Given the description of an element on the screen output the (x, y) to click on. 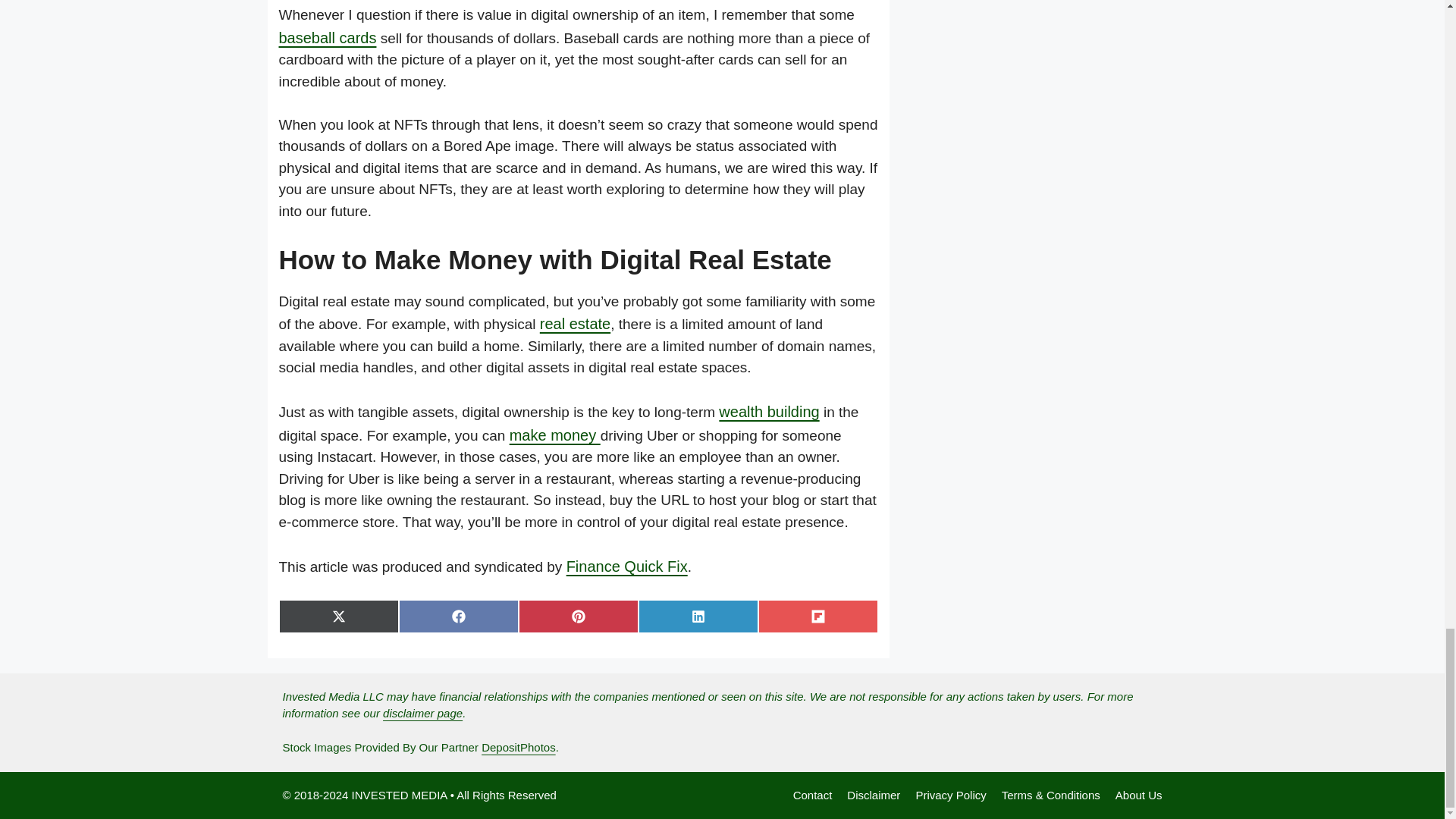
Share on Pinterest (578, 616)
real estate (575, 323)
make money (554, 434)
wealth building (768, 411)
Finance Quick Fix (626, 565)
baseball cards (328, 37)
Share on Facebook (458, 616)
